Given the description of an element on the screen output the (x, y) to click on. 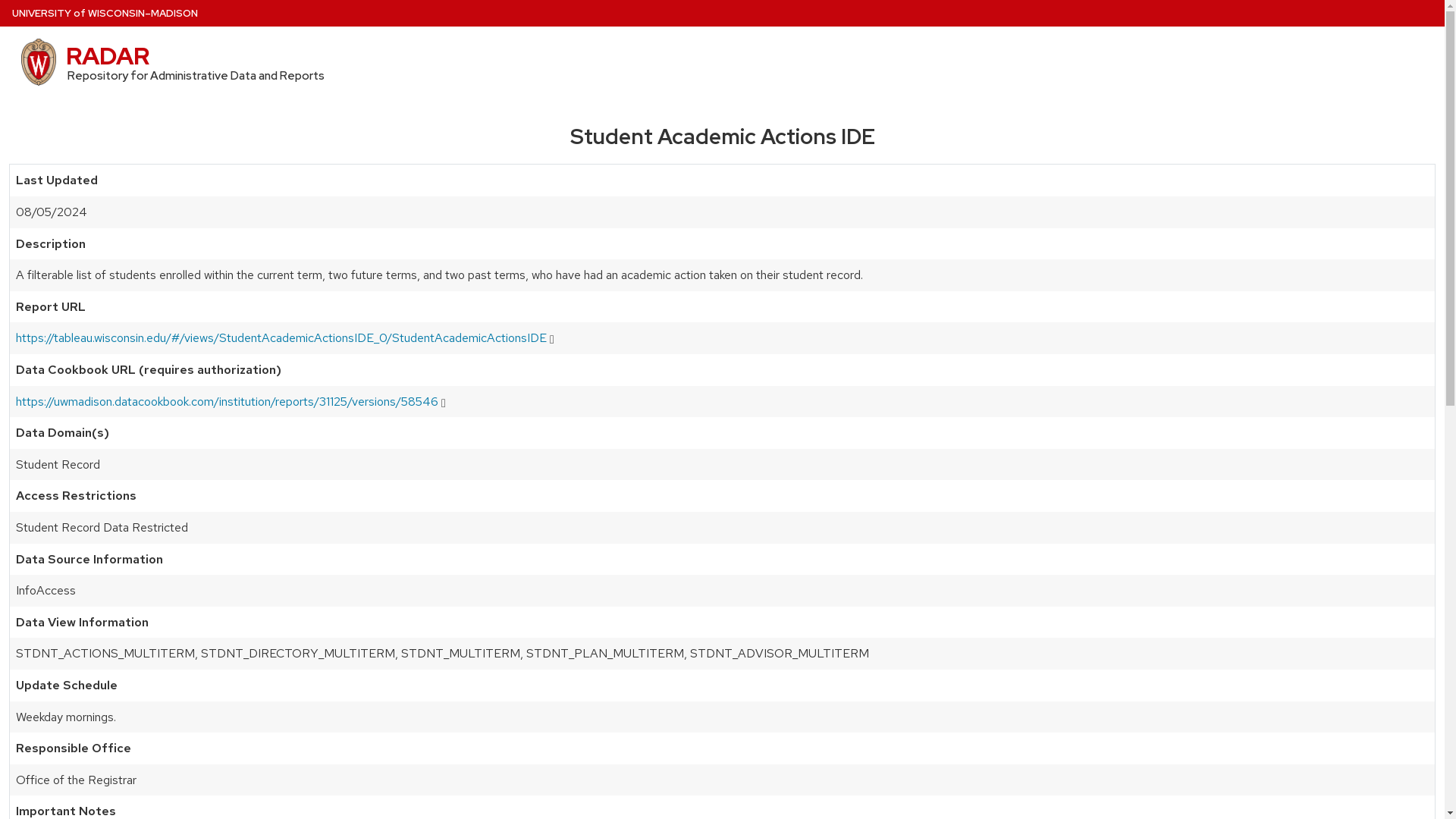
RADAR (107, 55)
